Given the description of an element on the screen output the (x, y) to click on. 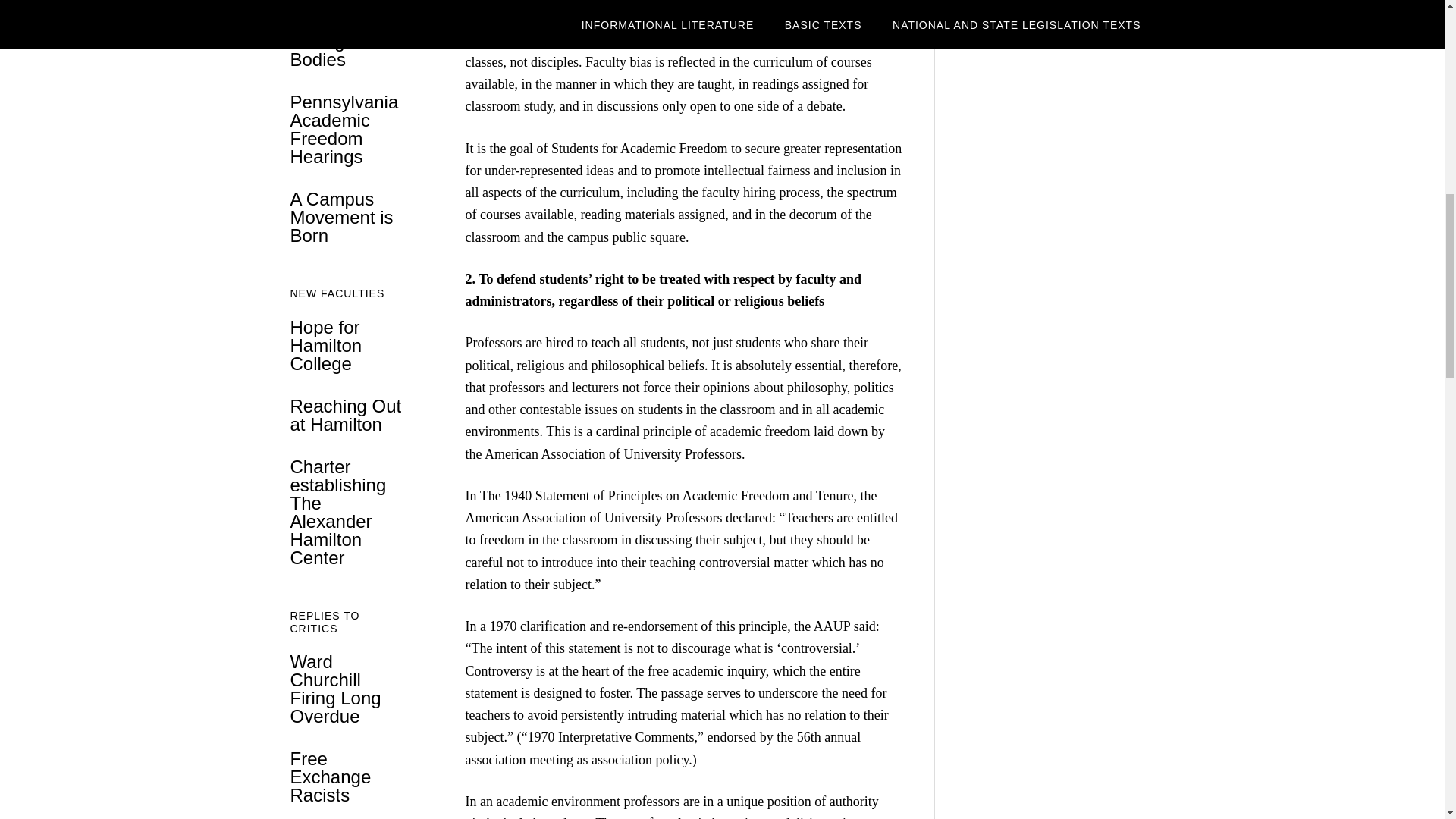
A Campus Movement is Born (341, 217)
Free Exchange Racists (330, 776)
Reaching Out at Hamilton (345, 414)
Pennsylvania Academic Freedom Hearings (343, 129)
Hope for Hamilton College (325, 344)
Horowitz Testimonies To Legislative Bodies (343, 34)
Ward Churchill Firing Long Overdue (334, 688)
